Given the description of an element on the screen output the (x, y) to click on. 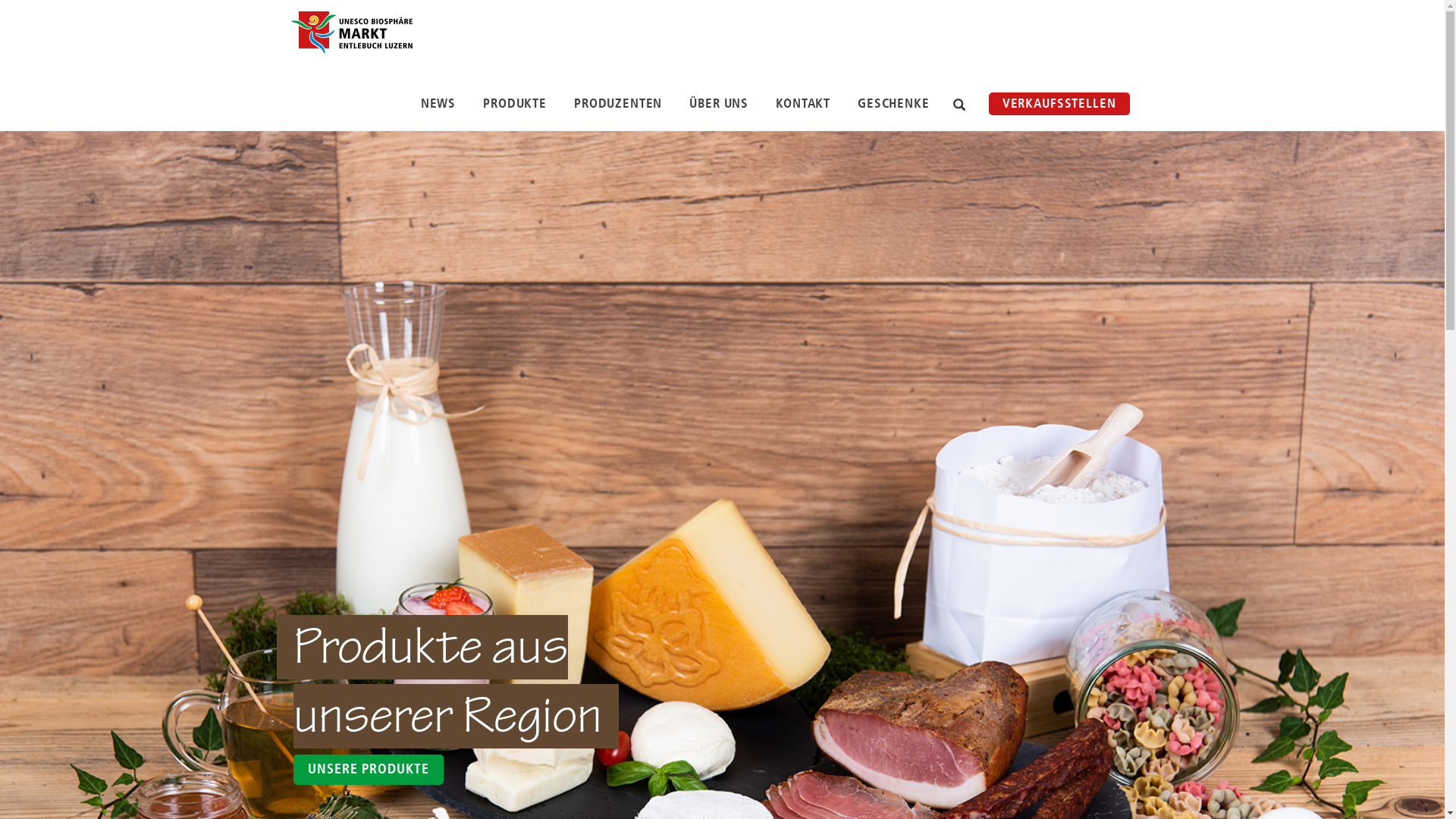
NEWS Element type: text (438, 103)
Startseite Element type: hover (350, 32)
KONTAKT Element type: text (803, 103)
PRODUZENTEN Element type: text (617, 103)
VERKAUFSSTELLEN Element type: text (1058, 103)
PRODUKTE Element type: text (514, 103)
GESCHENKE Element type: text (893, 103)
UNSERE PRODUKTE Element type: text (368, 769)
Suchen Element type: hover (959, 106)
